Given the description of an element on the screen output the (x, y) to click on. 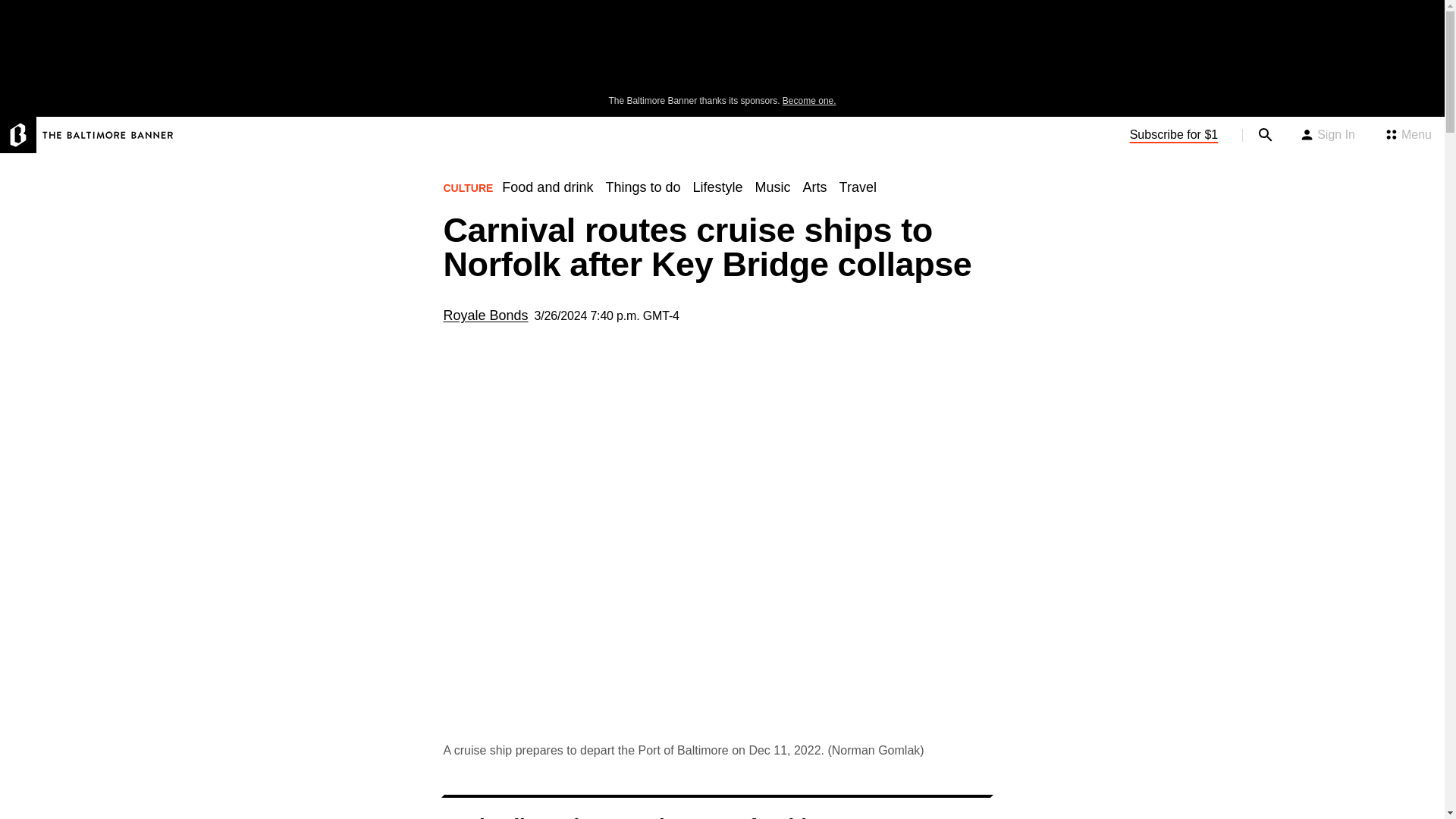
Sign In (1327, 135)
Become one. (809, 100)
CULTUREFood and drinkThings to doLifestyleMusicArtsTravel (665, 192)
